Given the description of an element on the screen output the (x, y) to click on. 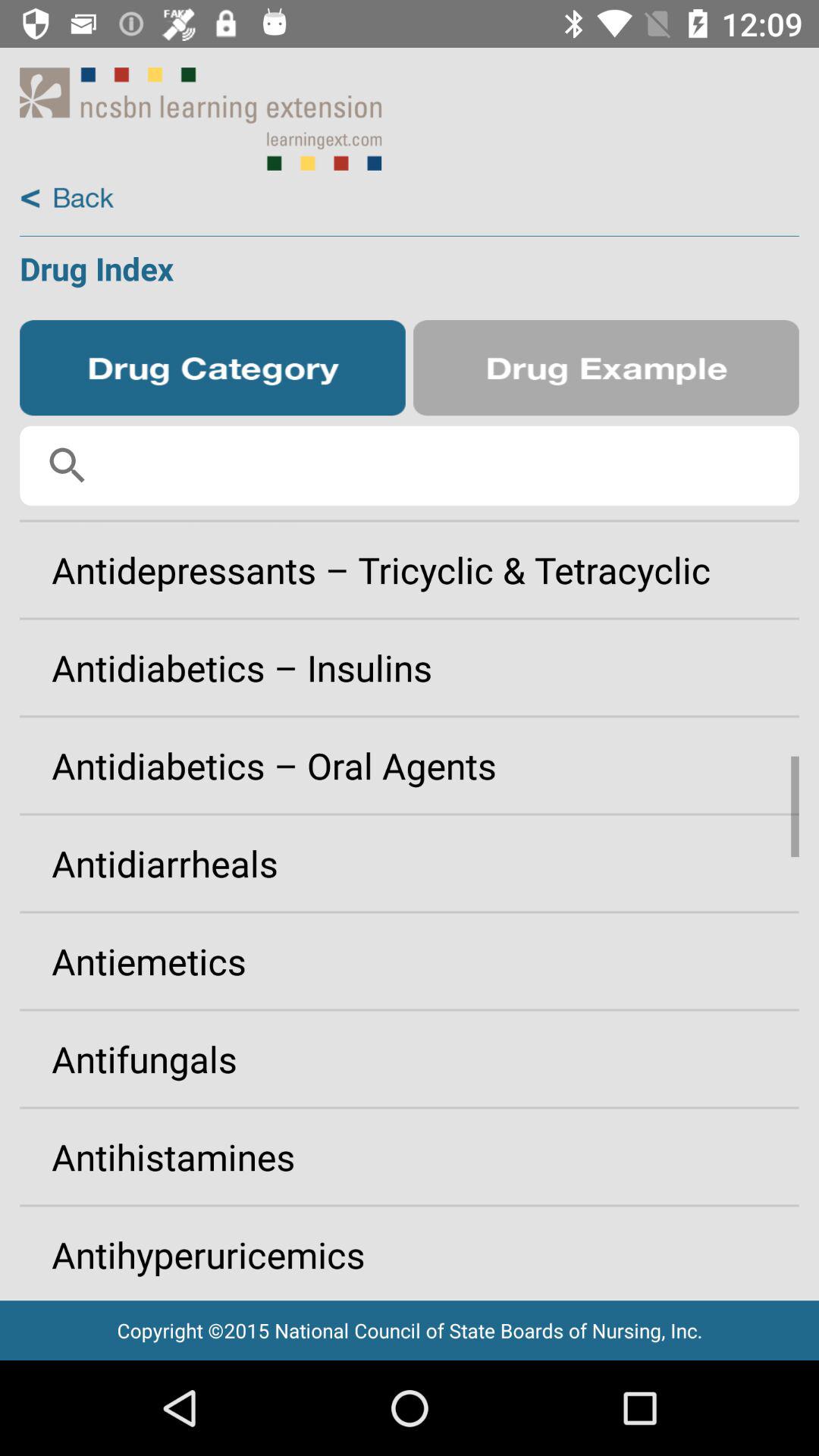
press the antihyperuricemics app (409, 1248)
